Given the description of an element on the screen output the (x, y) to click on. 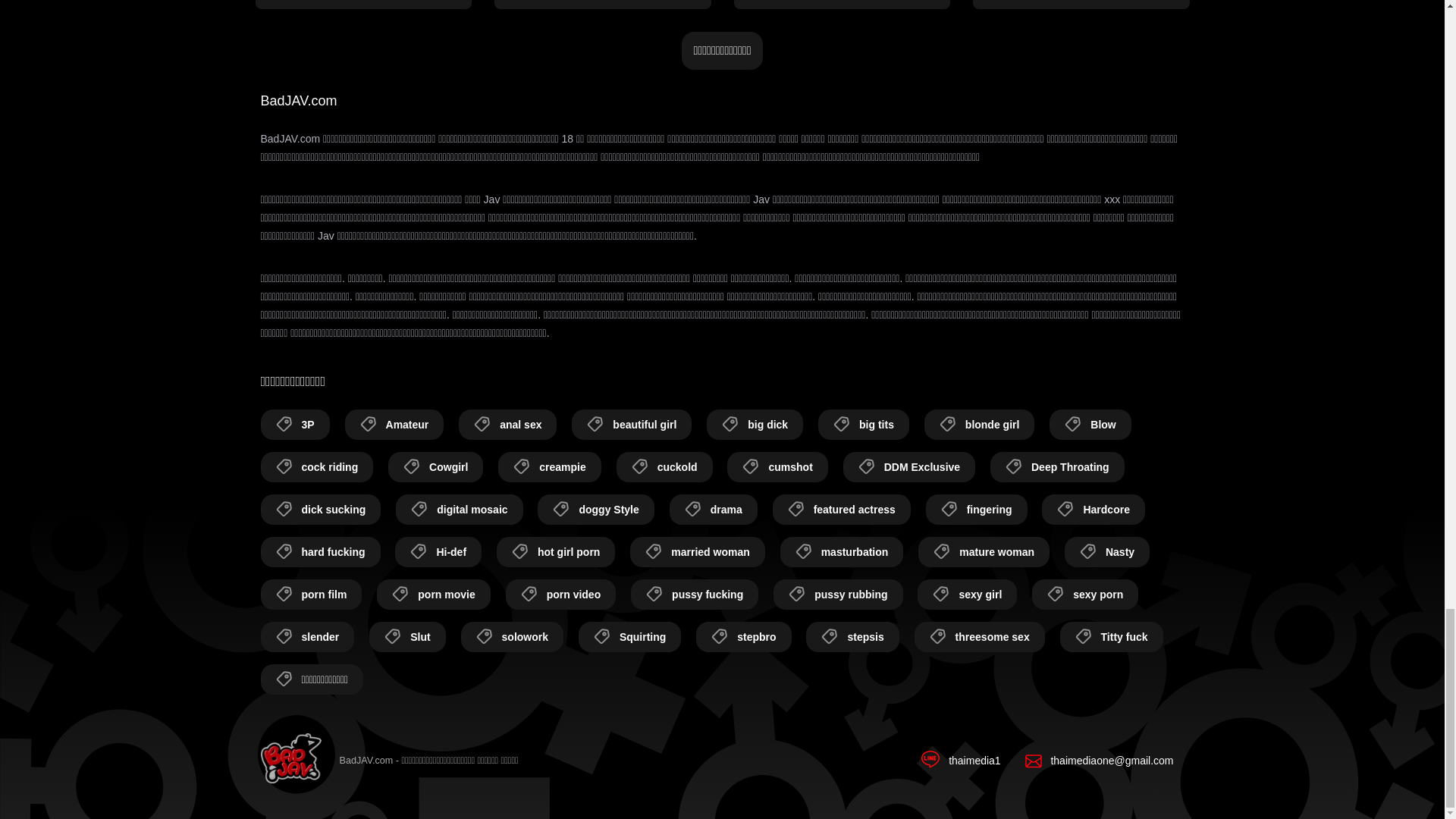
anal sex (507, 424)
Badjav.com (290, 760)
Amateur (394, 424)
beautiful girl (631, 424)
3P (295, 424)
